Given the description of an element on the screen output the (x, y) to click on. 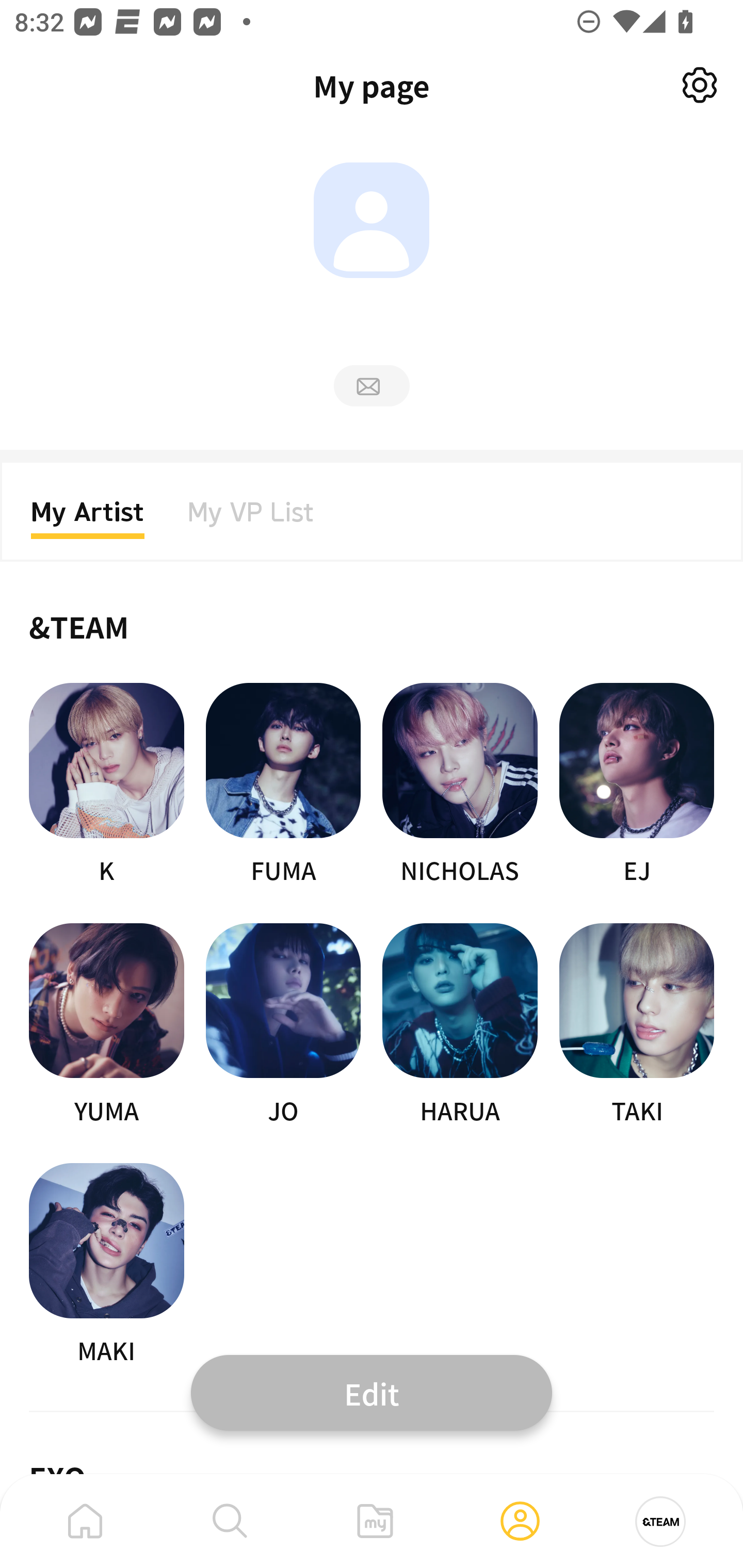
My Artist (87, 517)
My VP List (250, 517)
K (106, 785)
FUMA (282, 785)
NICHOLAS (459, 785)
EJ (636, 785)
YUMA (106, 1025)
JO (282, 1025)
HARUA (459, 1025)
TAKI (636, 1025)
MAKI (106, 1265)
Edit (371, 1392)
